Given the description of an element on the screen output the (x, y) to click on. 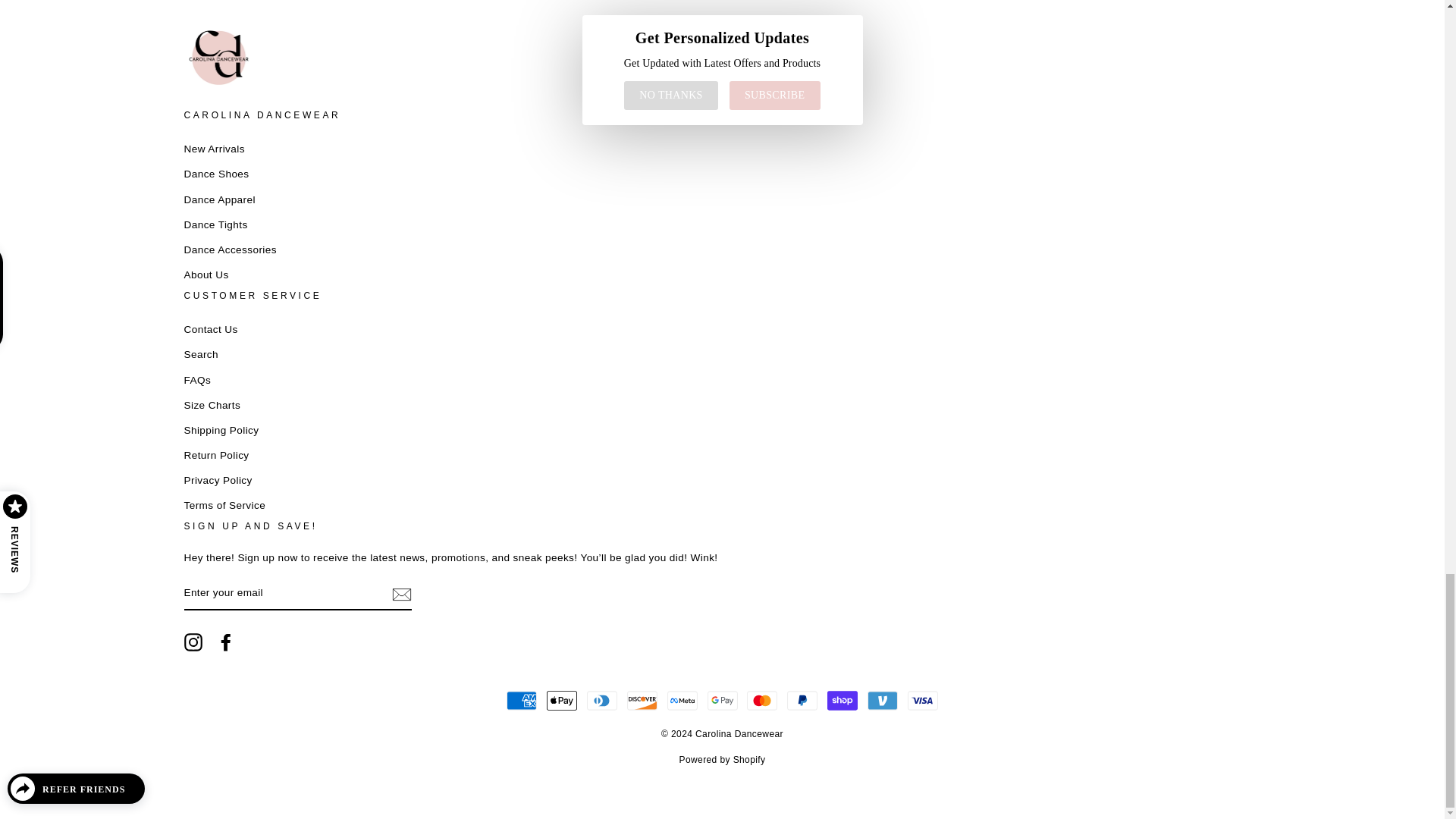
Apple Pay (561, 700)
Diners Club (601, 700)
American Express (521, 700)
Google Pay (721, 700)
Meta Pay (681, 700)
Carolina Dancewear on Facebook (225, 642)
Carolina Dancewear on Instagram (192, 642)
Discover (642, 700)
